Given the description of an element on the screen output the (x, y) to click on. 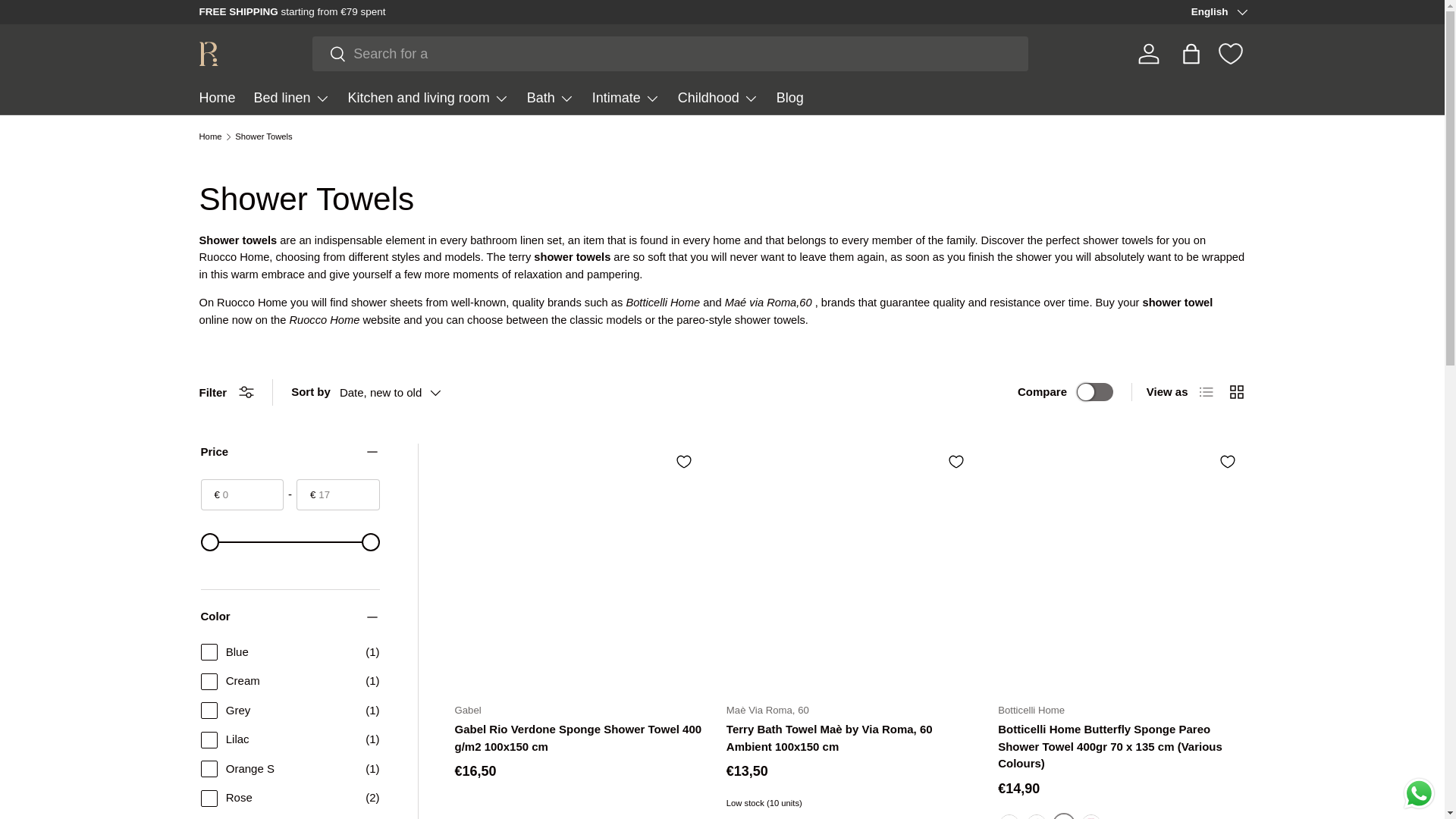
Rose (1090, 816)
Bath (550, 98)
Search (329, 54)
English (1218, 11)
Bed linen (291, 98)
Home (216, 98)
0 (289, 541)
Kitchen and living room (427, 98)
White (1008, 816)
Grey (1036, 816)
Skip to content (68, 21)
Log in (1147, 53)
